Given the description of an element on the screen output the (x, y) to click on. 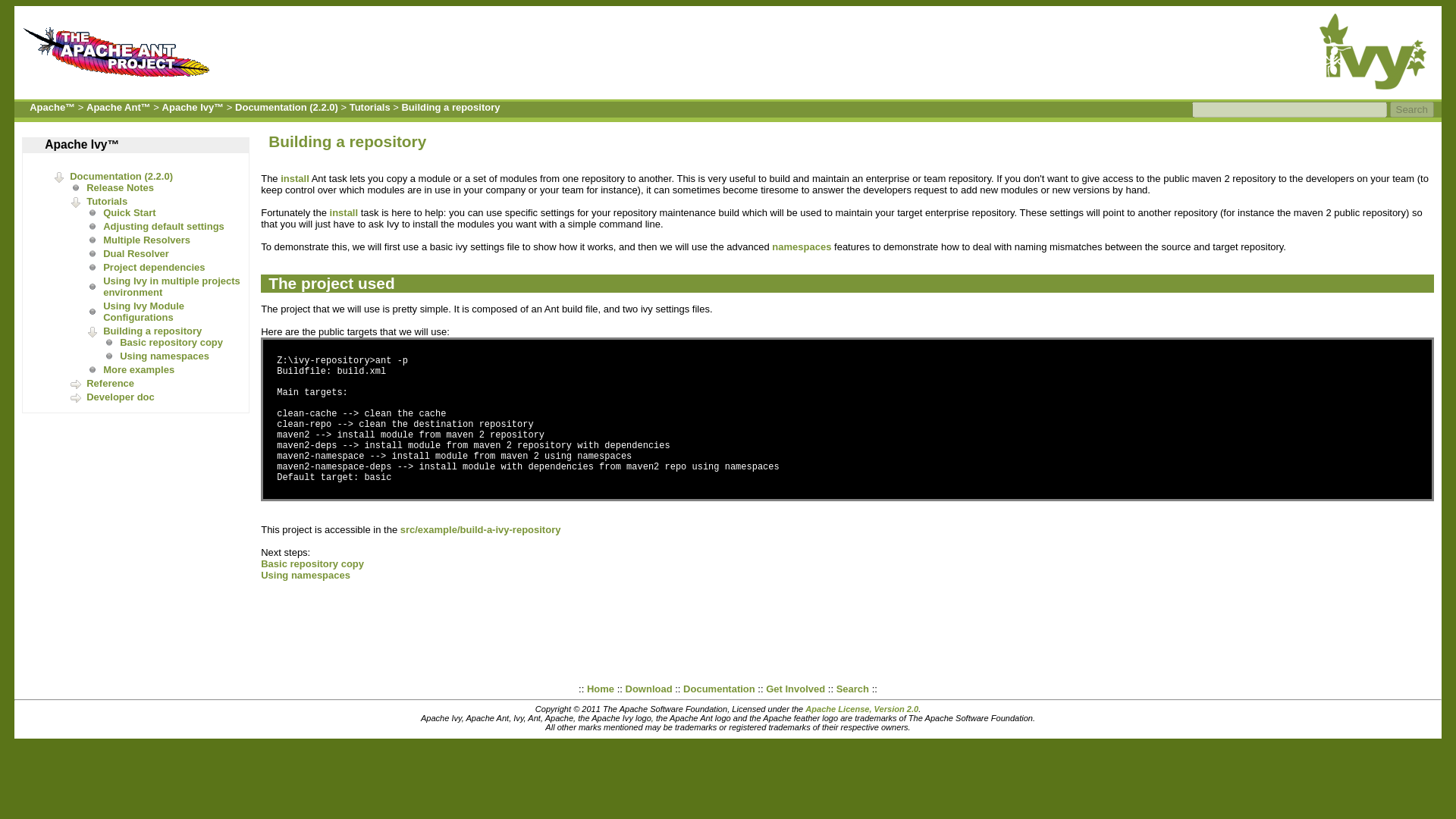
Reference (109, 383)
Using namespaces (164, 355)
Basic repository copy (170, 342)
Apache Ant (120, 79)
Building a repository (450, 107)
Quick Start (129, 212)
Dual Resolver (135, 253)
Project dependencies (154, 266)
Using Ivy in multiple projects environment (171, 286)
Search (1412, 109)
More examples (138, 369)
Using Ivy Module Configurations (143, 311)
Release Notes (119, 187)
Tutorials (106, 201)
Tutorials (369, 107)
